Given the description of an element on the screen output the (x, y) to click on. 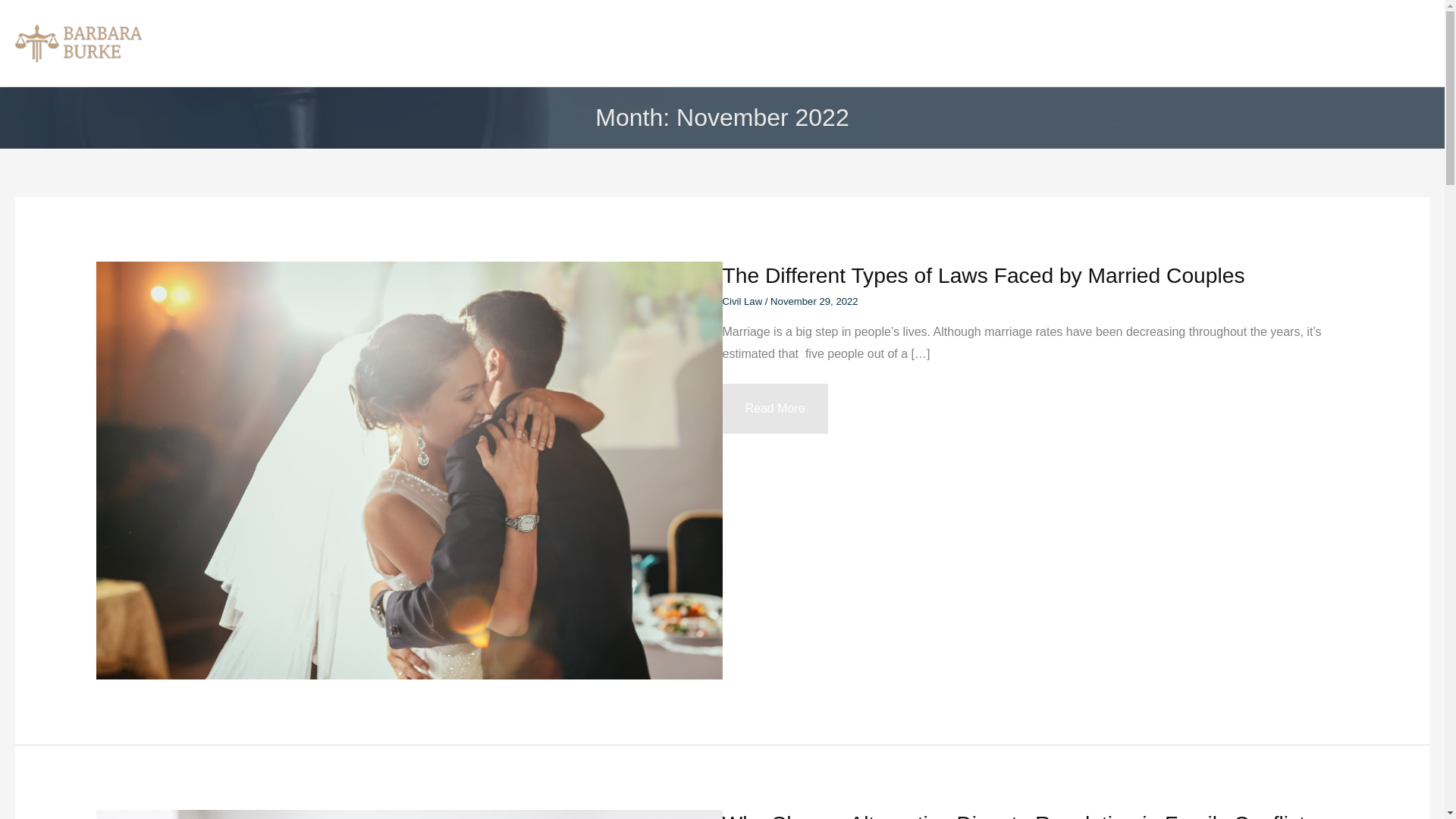
Criminal Law (964, 42)
The Different Types of Laws Faced by Married Couples (983, 274)
Civil Law (741, 301)
Retail and Business Sector (1311, 42)
Why Choose Alternative Dispute Resolution in Family Conflict (1013, 815)
Civil Law (1054, 42)
Automotive Sector (1159, 42)
